Given the description of an element on the screen output the (x, y) to click on. 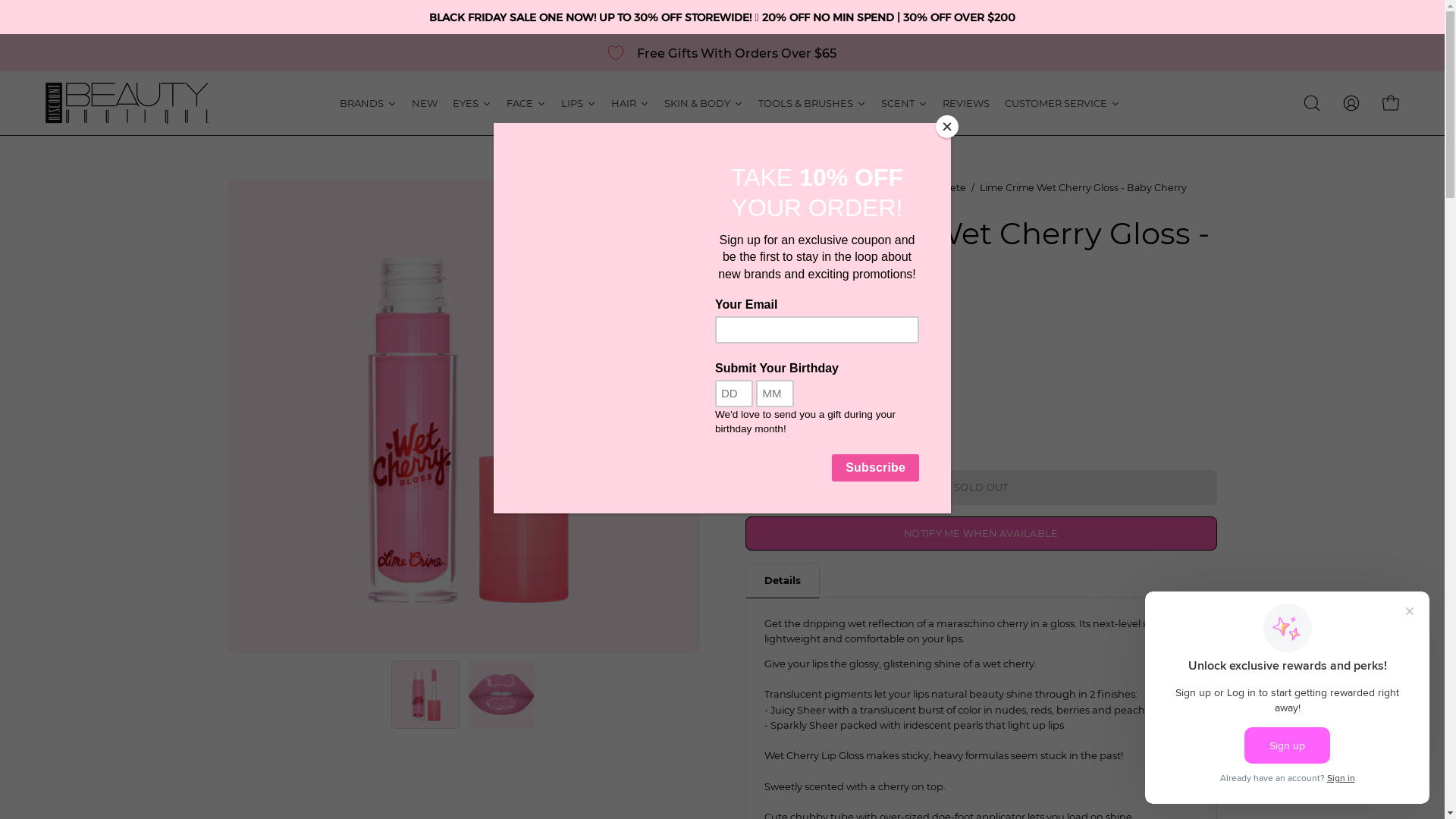
Smile.io Rewards Program Launcher Element type: hover (1359, 780)
Home Element type: text (759, 187)
HAIR Element type: text (629, 103)
NOTIFY ME WHEN AVAILABLE Element type: text (980, 533)
Smile.io Rewards Program Prompt Element type: hover (1287, 697)
TOOLS & BRUSHES Element type: text (811, 103)
1 Element type: text (789, 436)
Open image lightbox Element type: text (463, 416)
Open image lightbox Element type: text (935, 416)
Open cart Element type: text (1390, 103)
LIPS Element type: text (578, 103)
SOLD OUT Element type: text (980, 487)
Details Element type: text (781, 579)
NEW Element type: text (424, 103)
BRANDS Element type: text (368, 103)
SKIN & BODY Element type: text (703, 103)
EYES Element type: text (471, 103)
SCENT Element type: text (904, 103)
CUSTOMER SERVICE Element type: text (1062, 103)
My Account Element type: text (1351, 103)
Globo basis collection - Do not delete Element type: text (877, 187)
REVIEWS Element type: text (966, 103)
FACE Element type: text (525, 103)
